Given the description of an element on the screen output the (x, y) to click on. 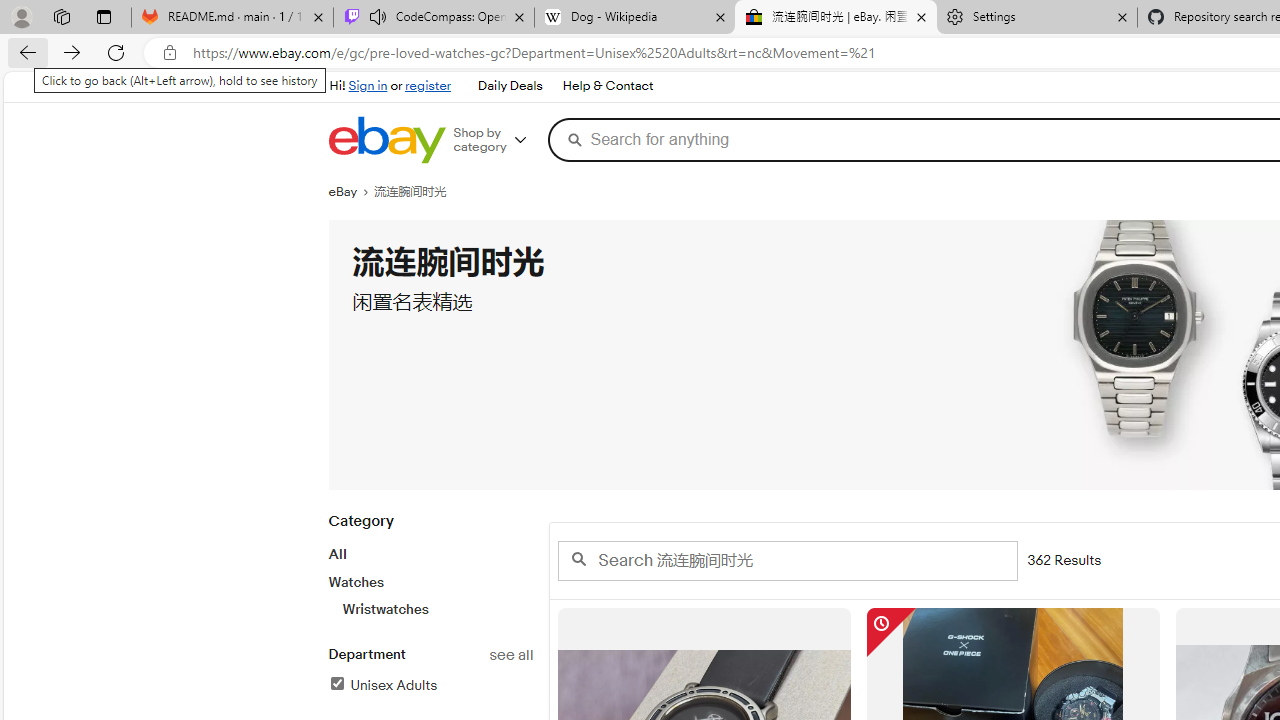
Wristwatches (437, 609)
Shop by category (496, 140)
Help & Contact (607, 86)
WatchesWristwatches (430, 595)
Dog - Wikipedia (634, 17)
Daily Deals (509, 86)
CategoryAllWatchesWristwatches (430, 576)
All (336, 554)
eBay Home (386, 139)
Sign in (367, 85)
eBay (351, 191)
